Given the description of an element on the screen output the (x, y) to click on. 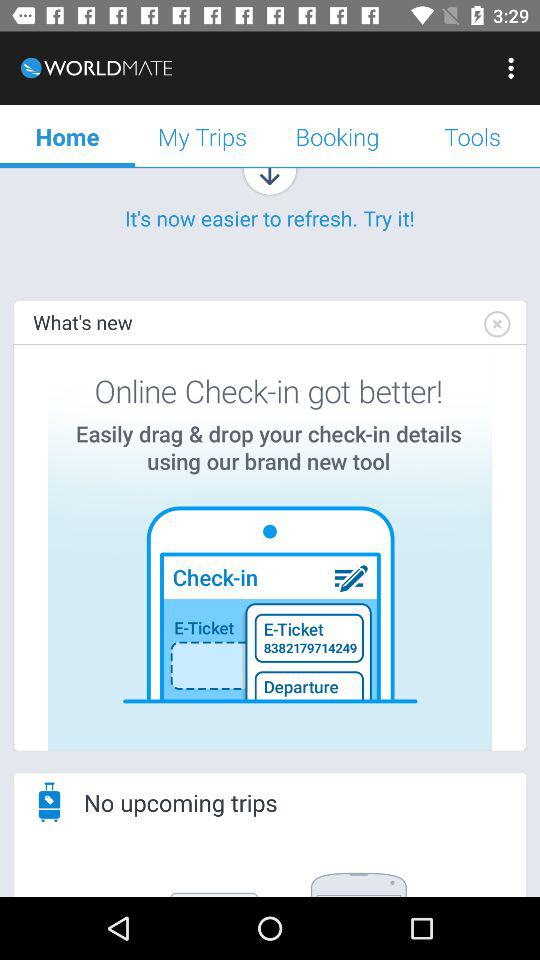
turn off icon next to what's new (496, 323)
